Given the description of an element on the screen output the (x, y) to click on. 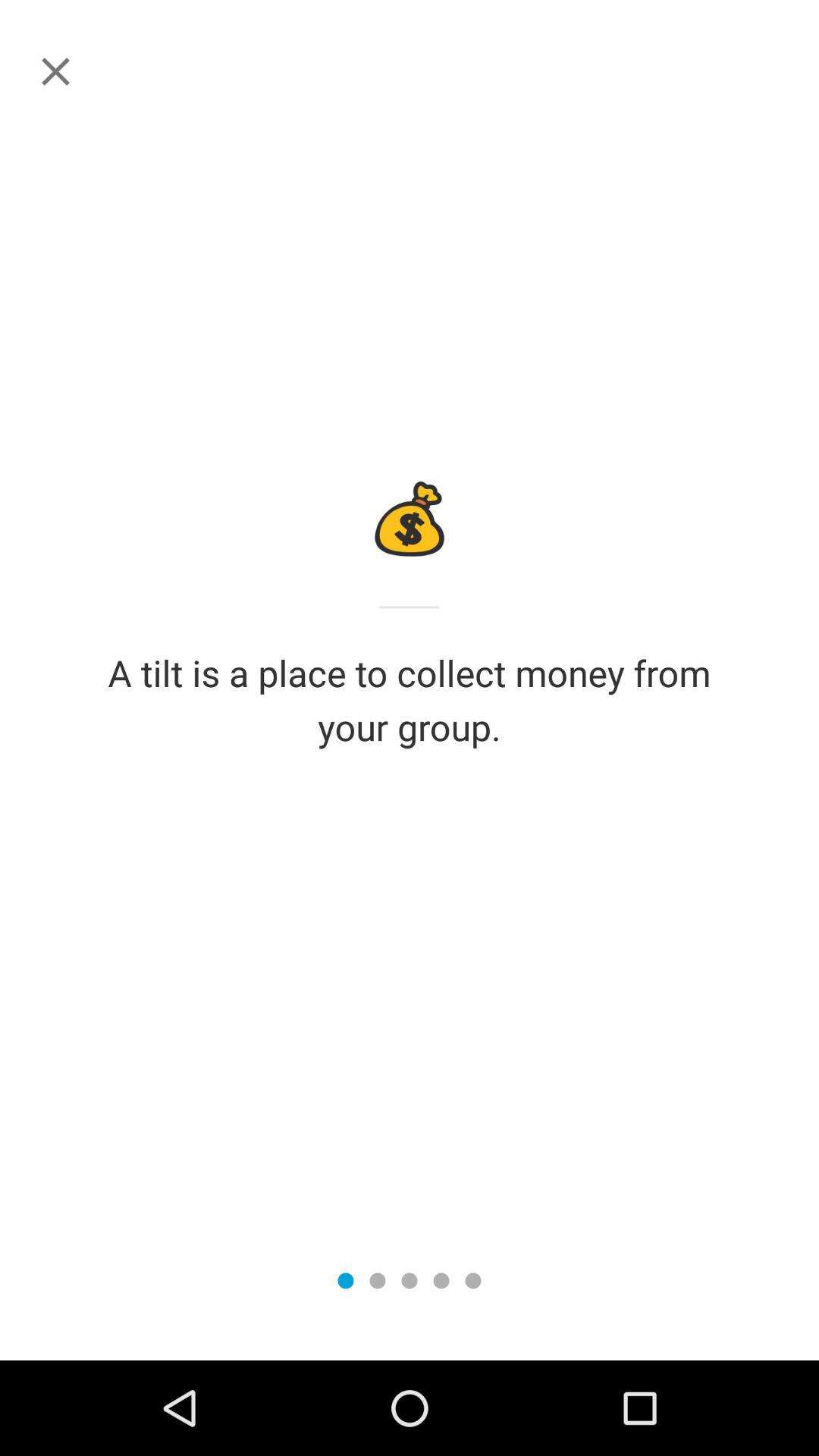
turn off icon above a tilt is item (55, 71)
